Given the description of an element on the screen output the (x, y) to click on. 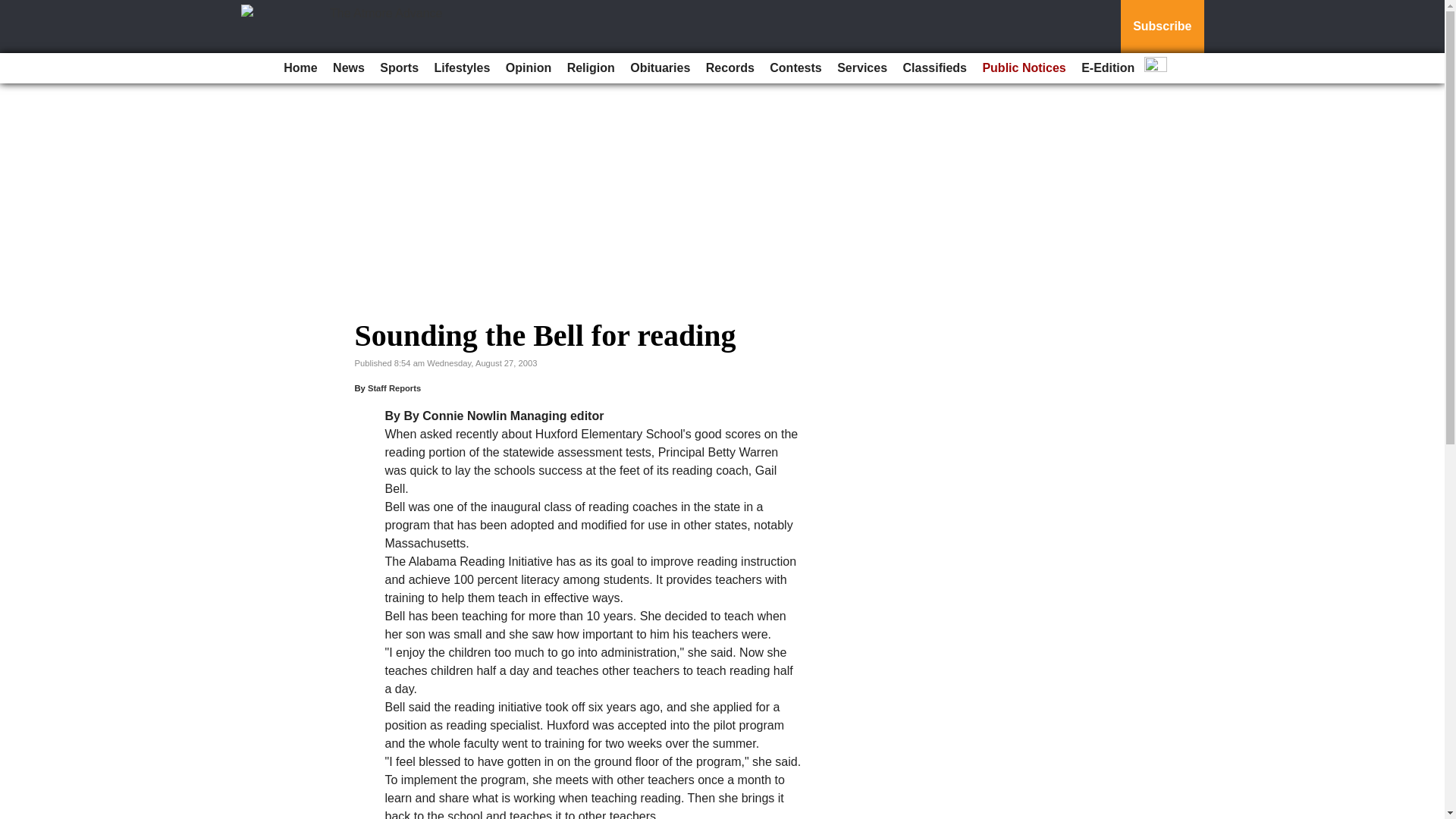
Records (730, 68)
News (348, 68)
Contests (794, 68)
Public Notices (1023, 68)
Opinion (528, 68)
Services (862, 68)
Subscribe (1162, 26)
Sports (399, 68)
Obituaries (659, 68)
Go (13, 9)
